Given the description of an element on the screen output the (x, y) to click on. 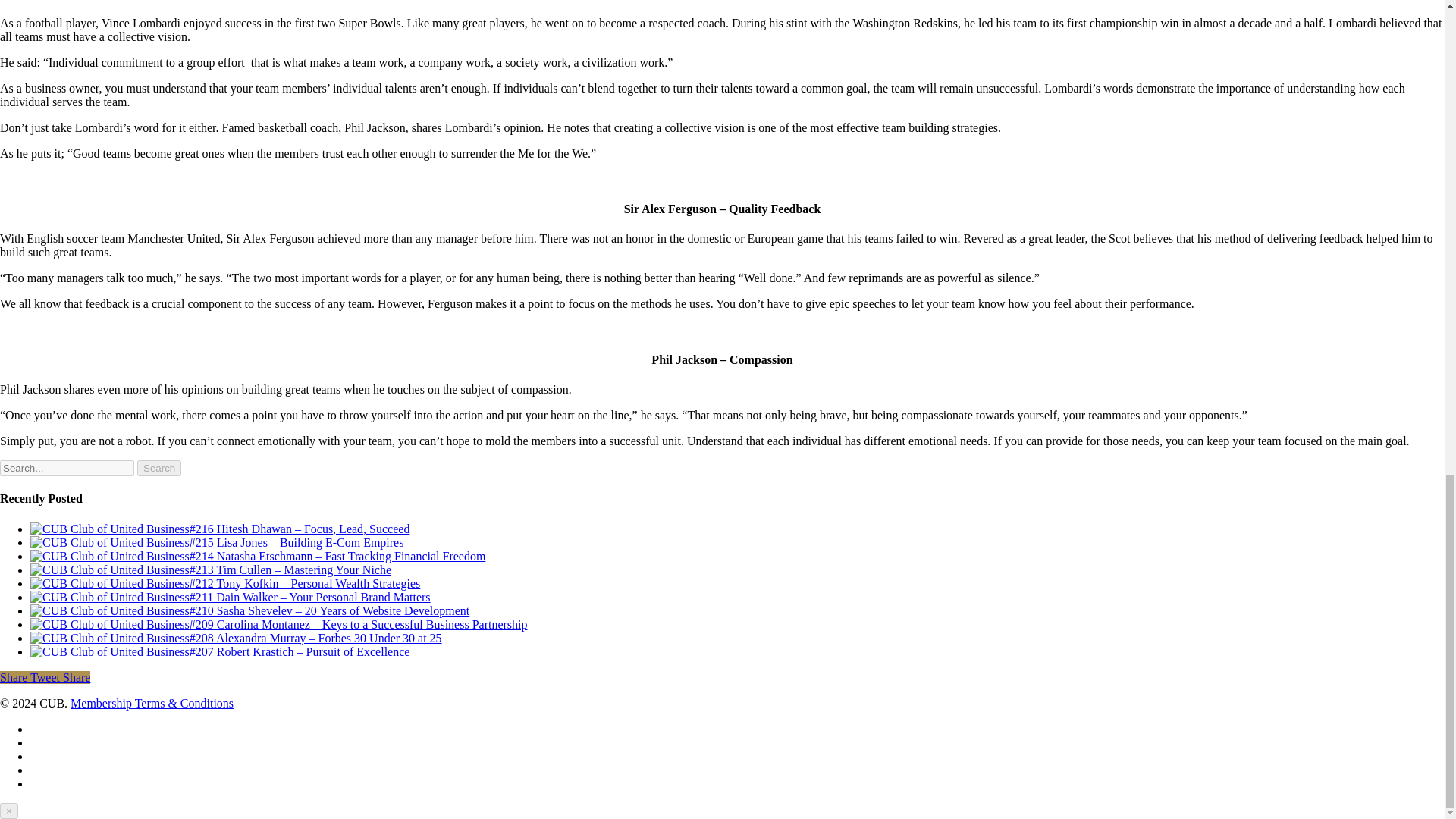
Share this (15, 676)
Share (15, 676)
Search for: (66, 467)
Tweet this (46, 676)
Search (158, 467)
